Given the description of an element on the screen output the (x, y) to click on. 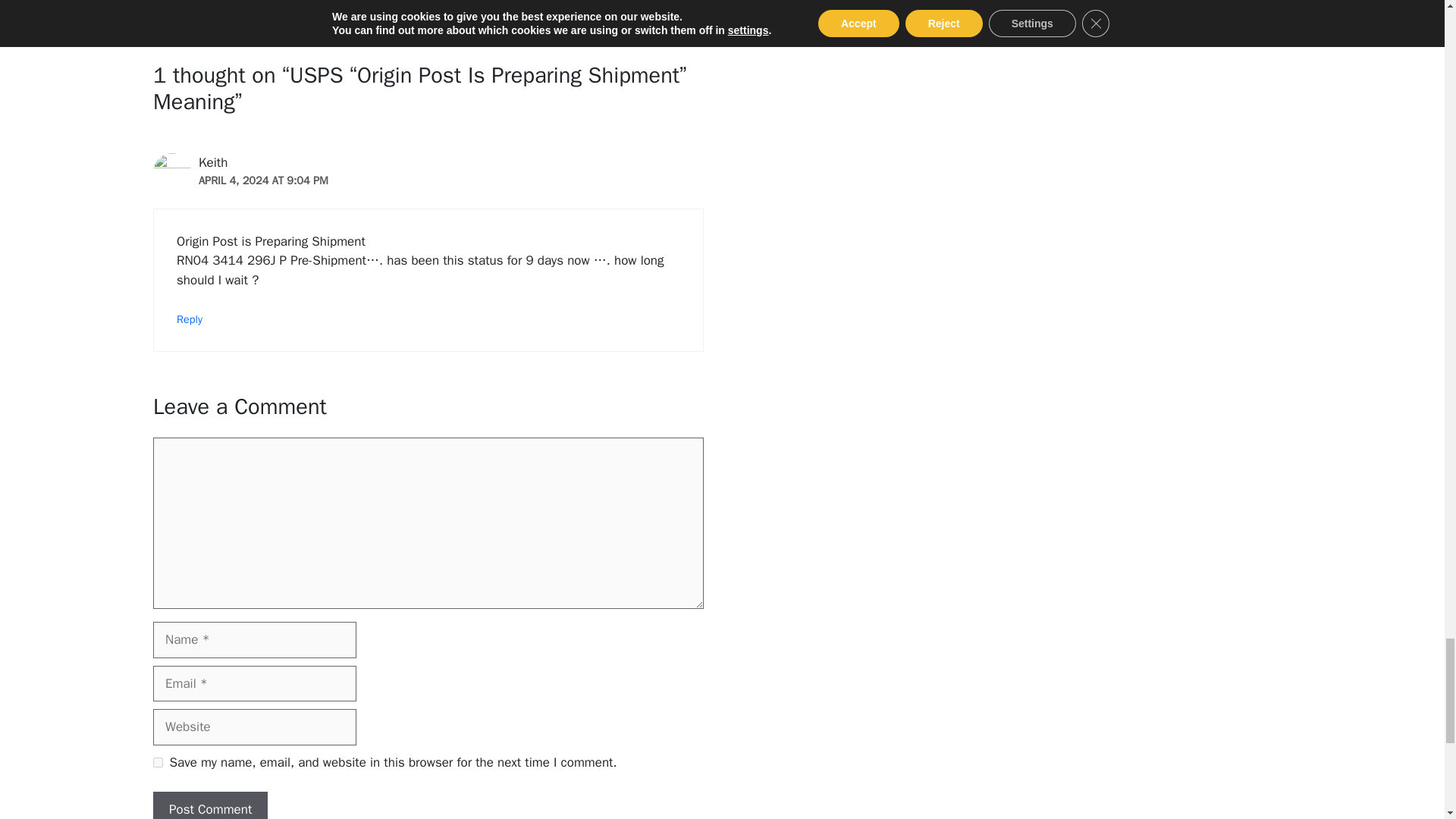
Post Comment (209, 805)
USPS (238, 4)
CARRIERS (194, 4)
APRIL 4, 2024 AT 9:04 PM (263, 180)
Reply (189, 318)
yes (157, 762)
WHAT IS THE FEDEX TIPPING POLICY? CAN YOU TIP THE DRIVER? (326, 18)
WHAT IS THE UPS TIPPING POLICY? CAN YOU TIP THE DRIVER? (321, 34)
Post Comment (209, 805)
